Given the description of an element on the screen output the (x, y) to click on. 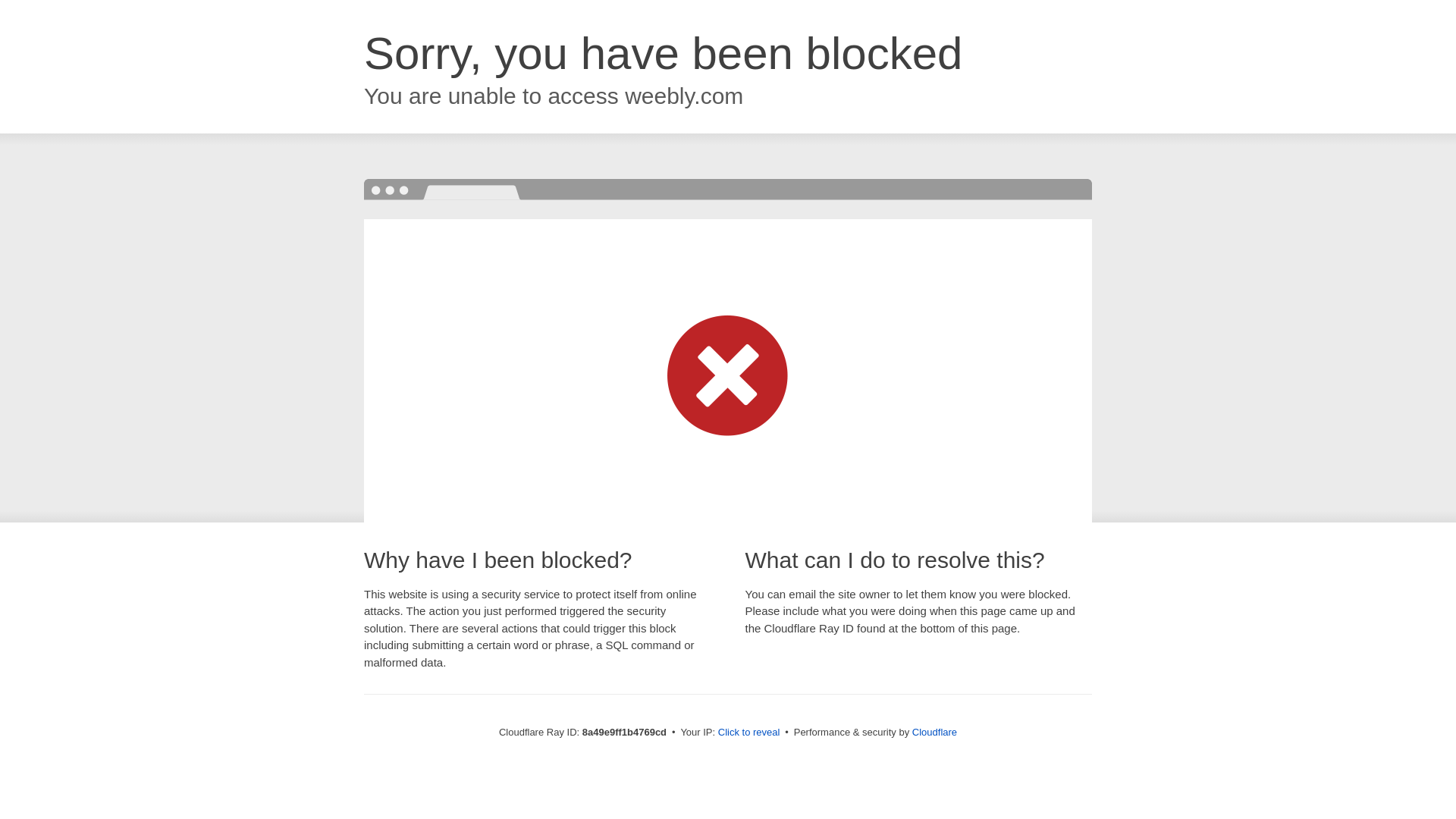
Cloudflare (934, 731)
Click to reveal (748, 732)
